Given the description of an element on the screen output the (x, y) to click on. 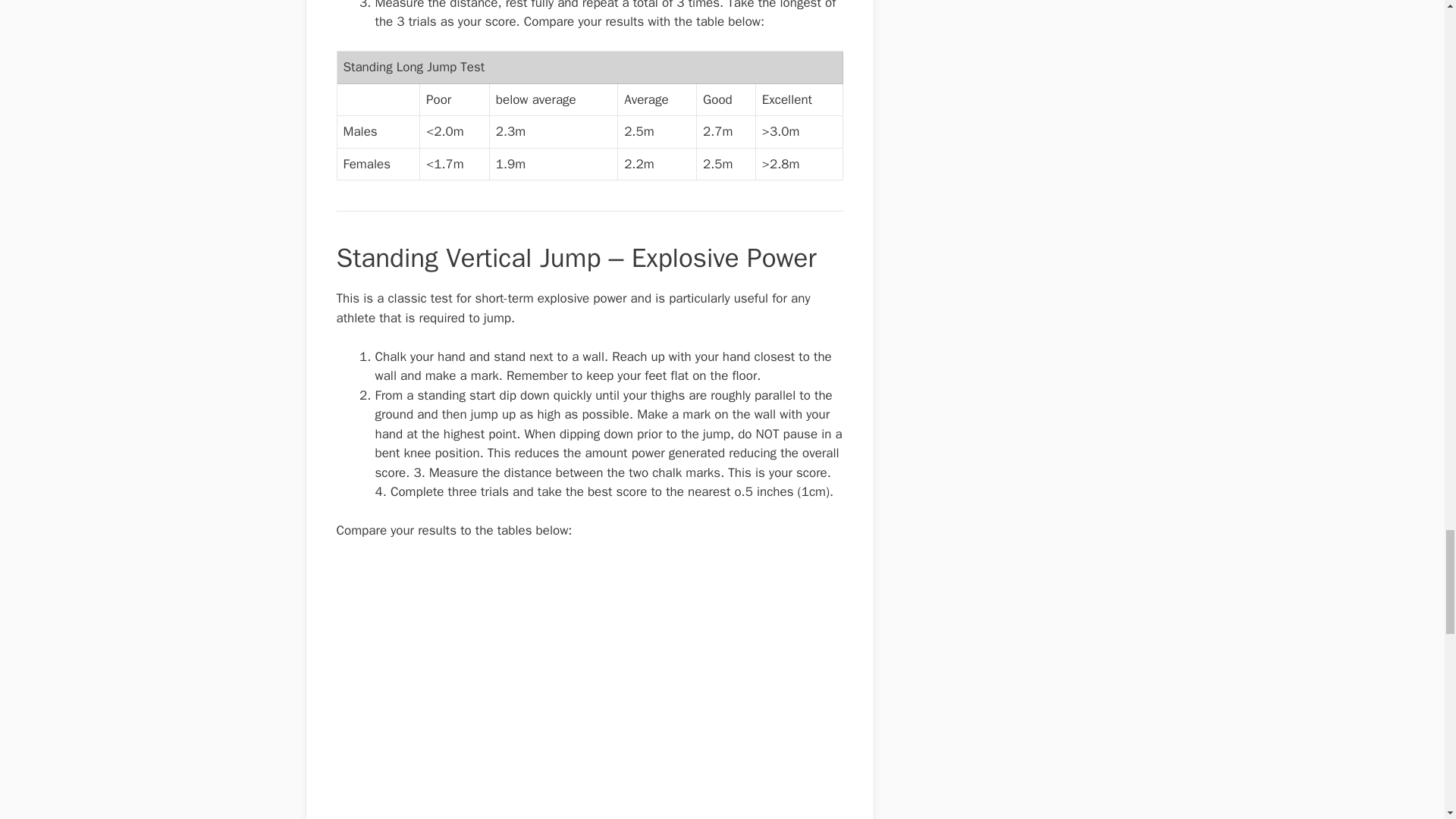
Vertical jump test scores (464, 689)
